Given the description of an element on the screen output the (x, y) to click on. 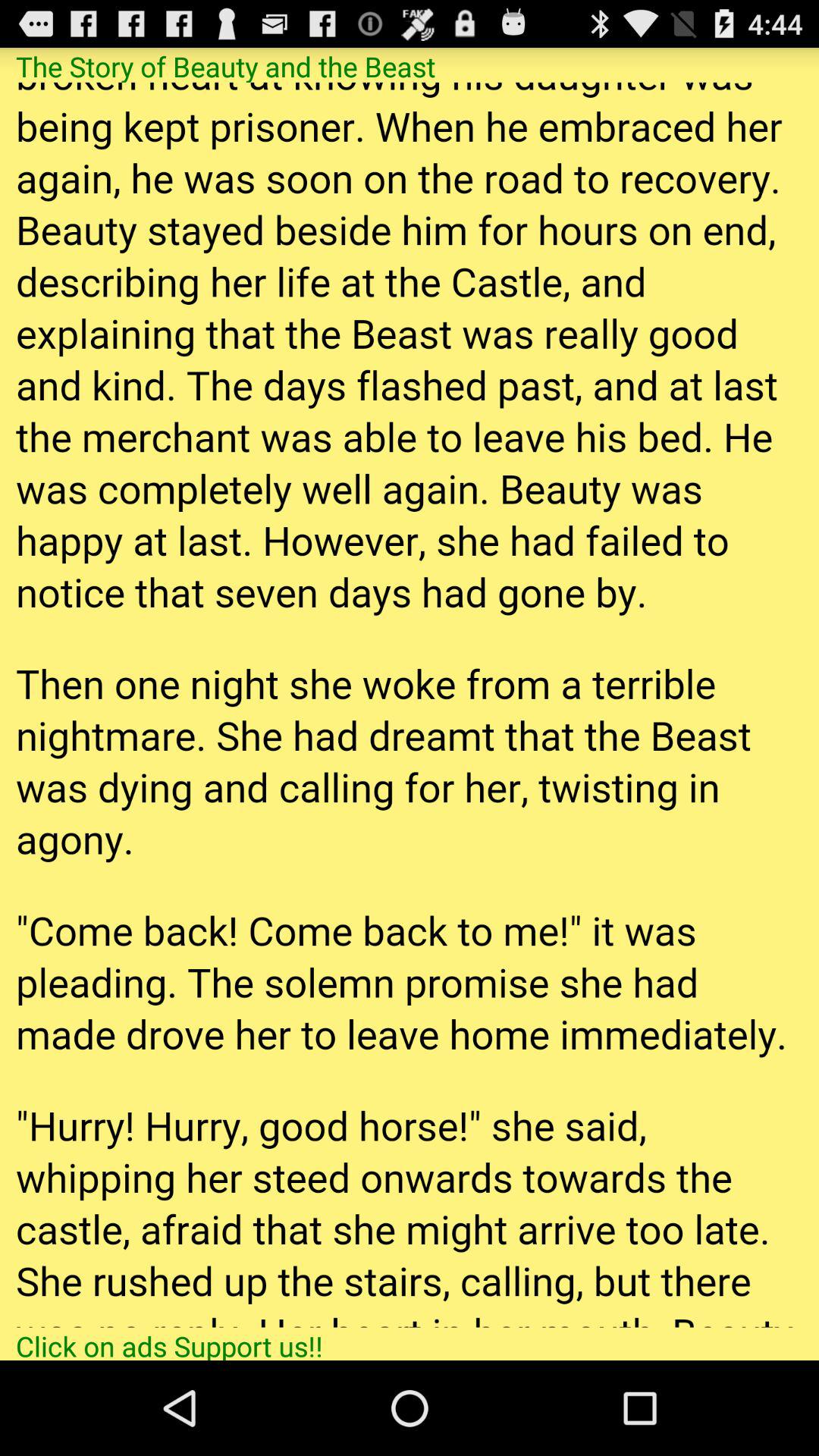
colour pinter (409, 704)
